Given the description of an element on the screen output the (x, y) to click on. 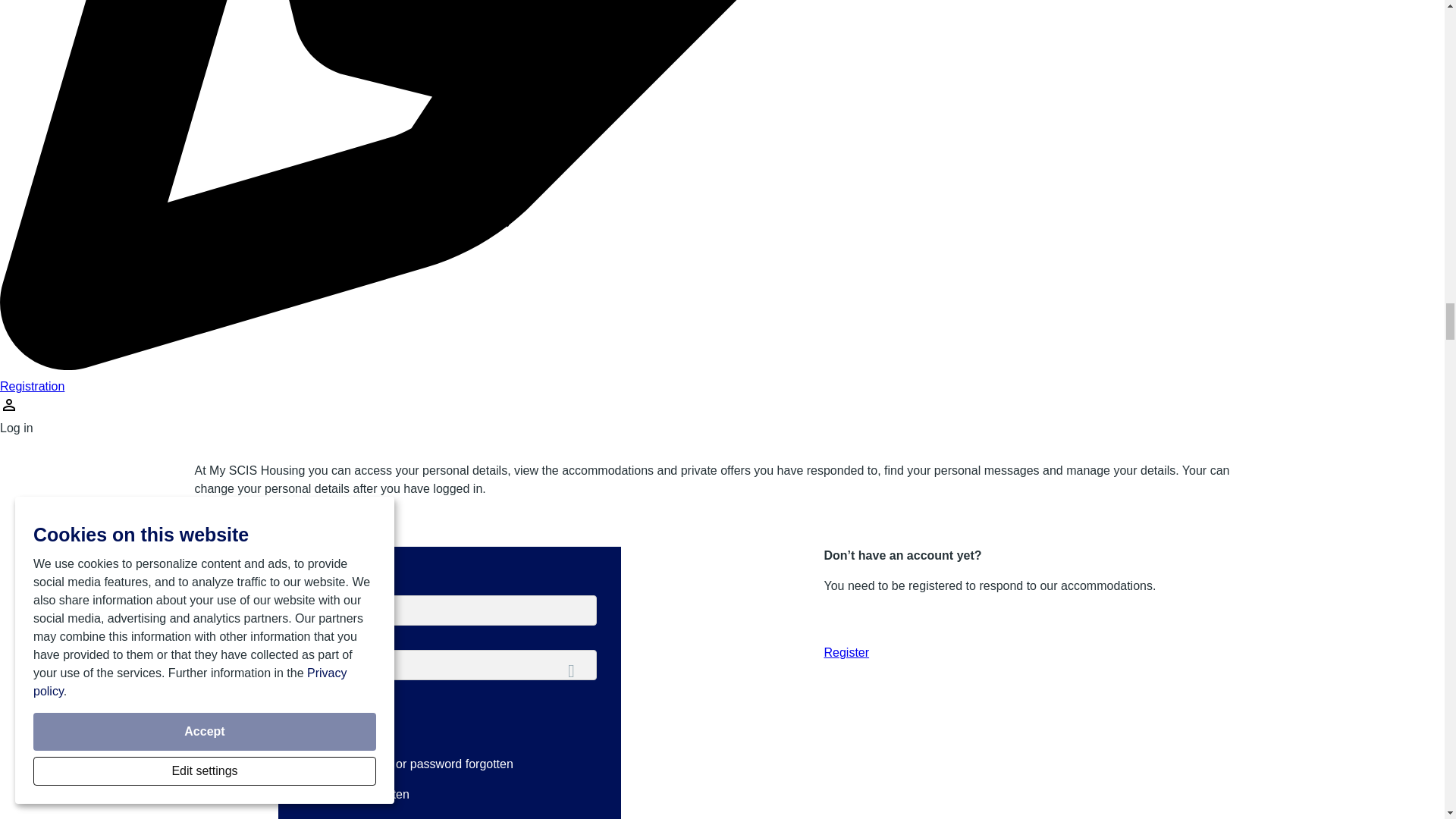
No password yet or password forgotten (406, 763)
Sign in (341, 718)
Sign in (341, 718)
Username forgotten (355, 793)
